Given the description of an element on the screen output the (x, y) to click on. 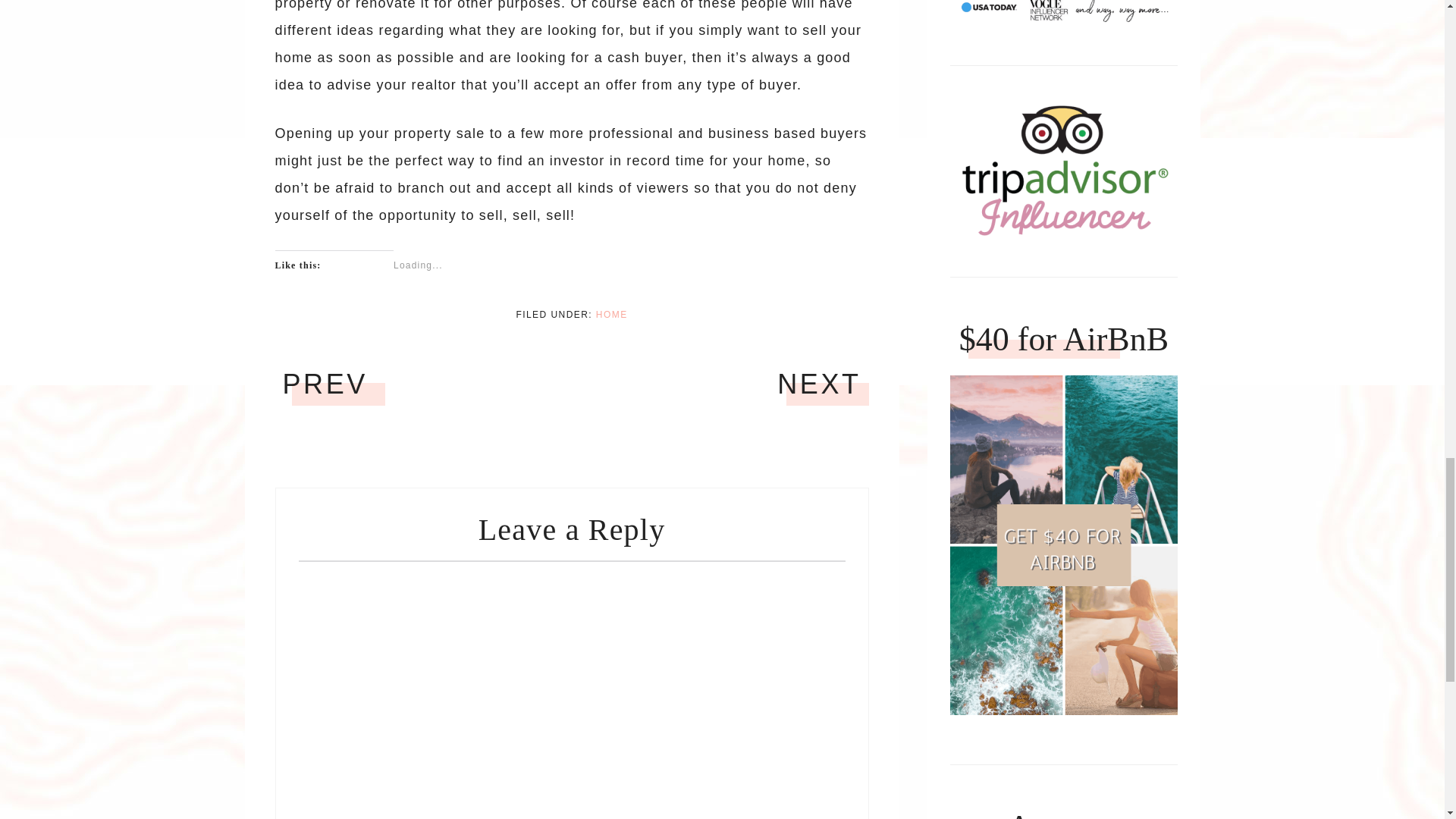
NEXT (818, 383)
As Seen In: (1063, 12)
HOME (611, 314)
PREV (324, 383)
